Given the description of an element on the screen output the (x, y) to click on. 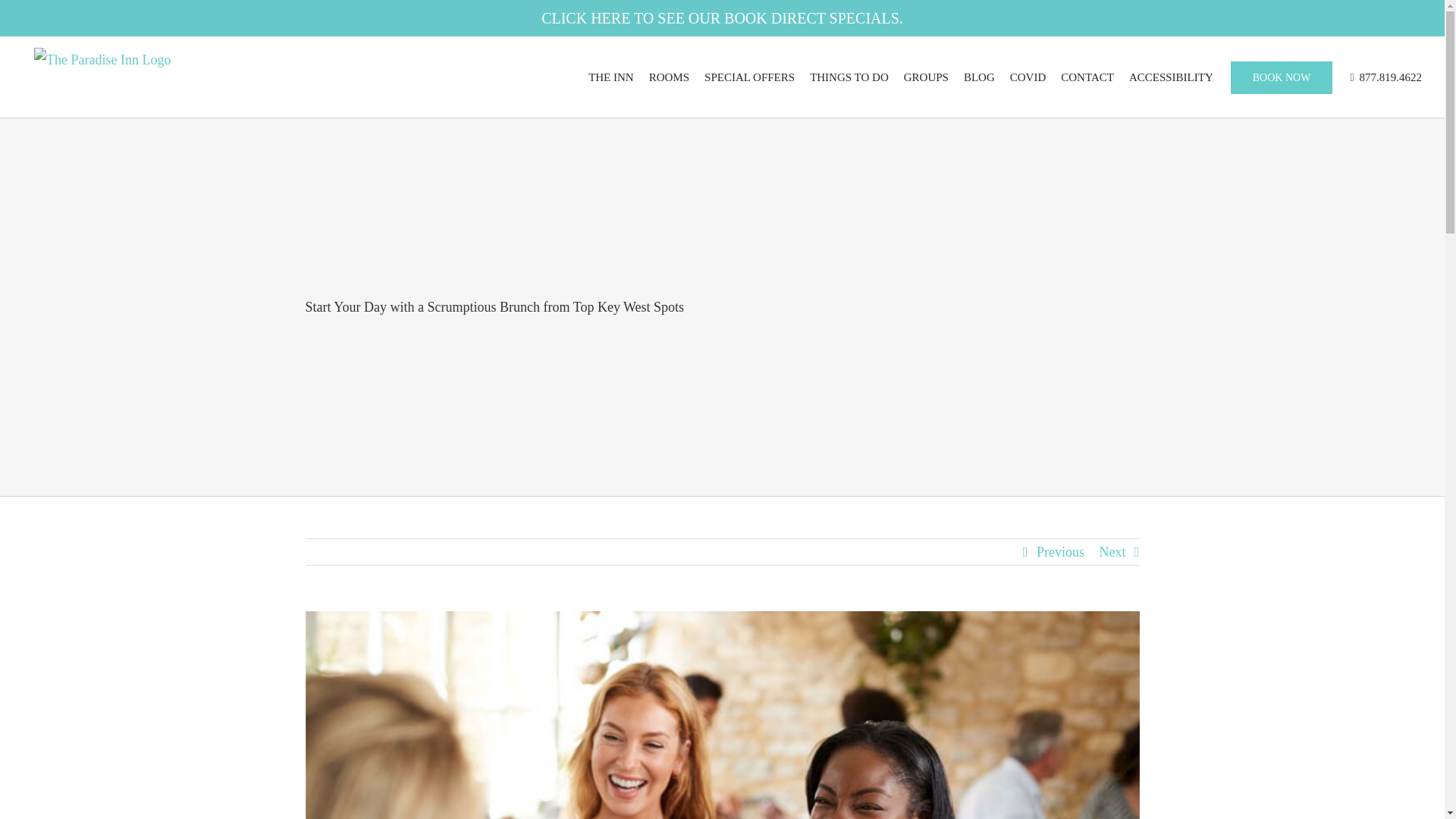
877.819.4622 (1385, 76)
SPECIAL OFFERS (749, 76)
THINGS TO DO (848, 76)
ACCESSIBILITY (1170, 76)
CLICK HERE TO SEE OUR BOOK DIRECT SPECIALS. (721, 17)
BOOK NOW (1281, 76)
